Given the description of an element on the screen output the (x, y) to click on. 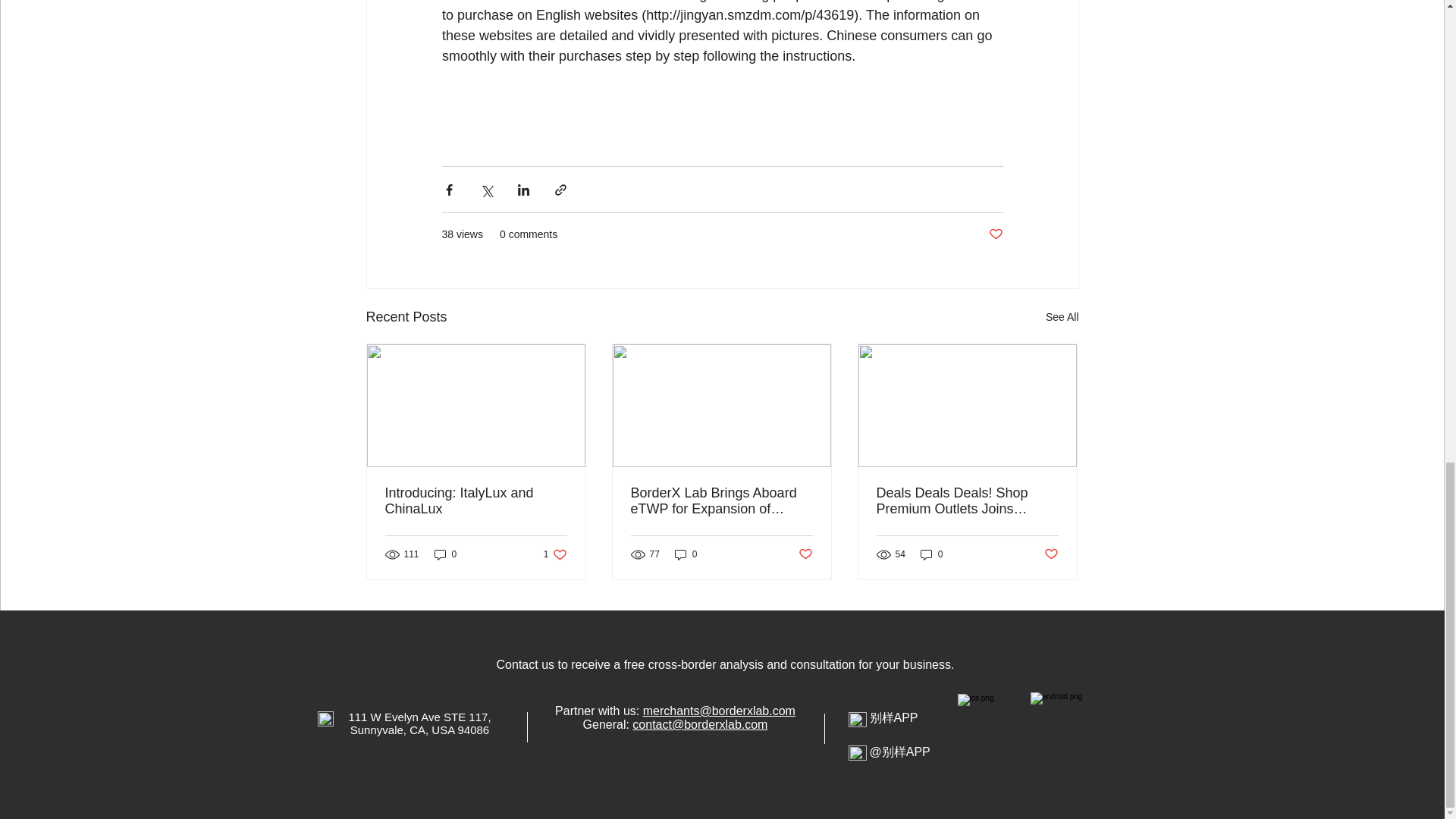
0 (685, 554)
Post not marked as liked (995, 234)
Post not marked as liked (555, 554)
General:  (1050, 553)
See All (608, 724)
0 (1061, 317)
Introducing: ItalyLux and ChinaLux (445, 554)
Post not marked as liked (476, 500)
